Given the description of an element on the screen output the (x, y) to click on. 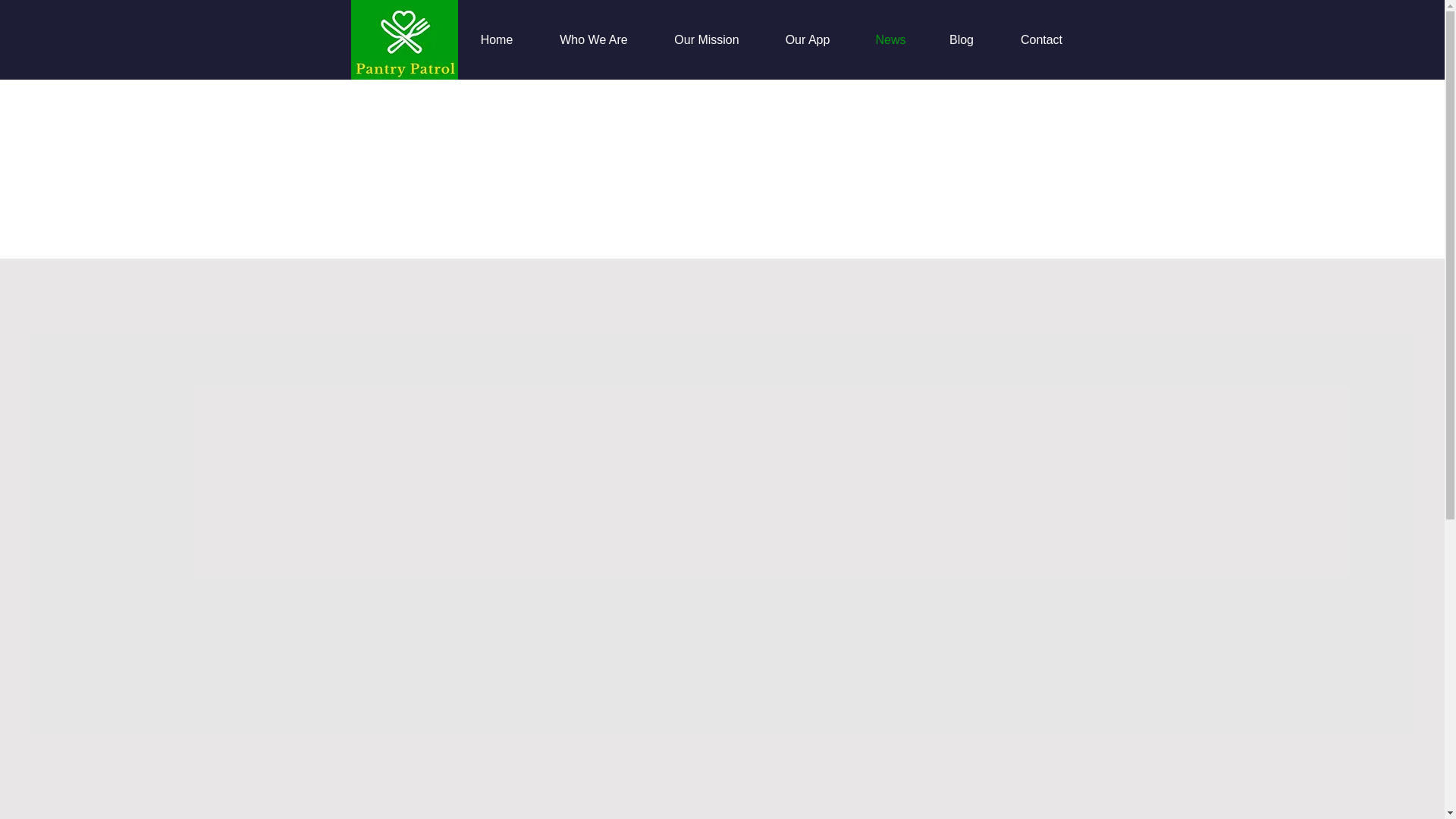
News (890, 39)
Blog (961, 39)
Contact (1040, 39)
Our App (807, 39)
Our Mission (706, 39)
Who We Are (592, 39)
Home (496, 39)
